Given the description of an element on the screen output the (x, y) to click on. 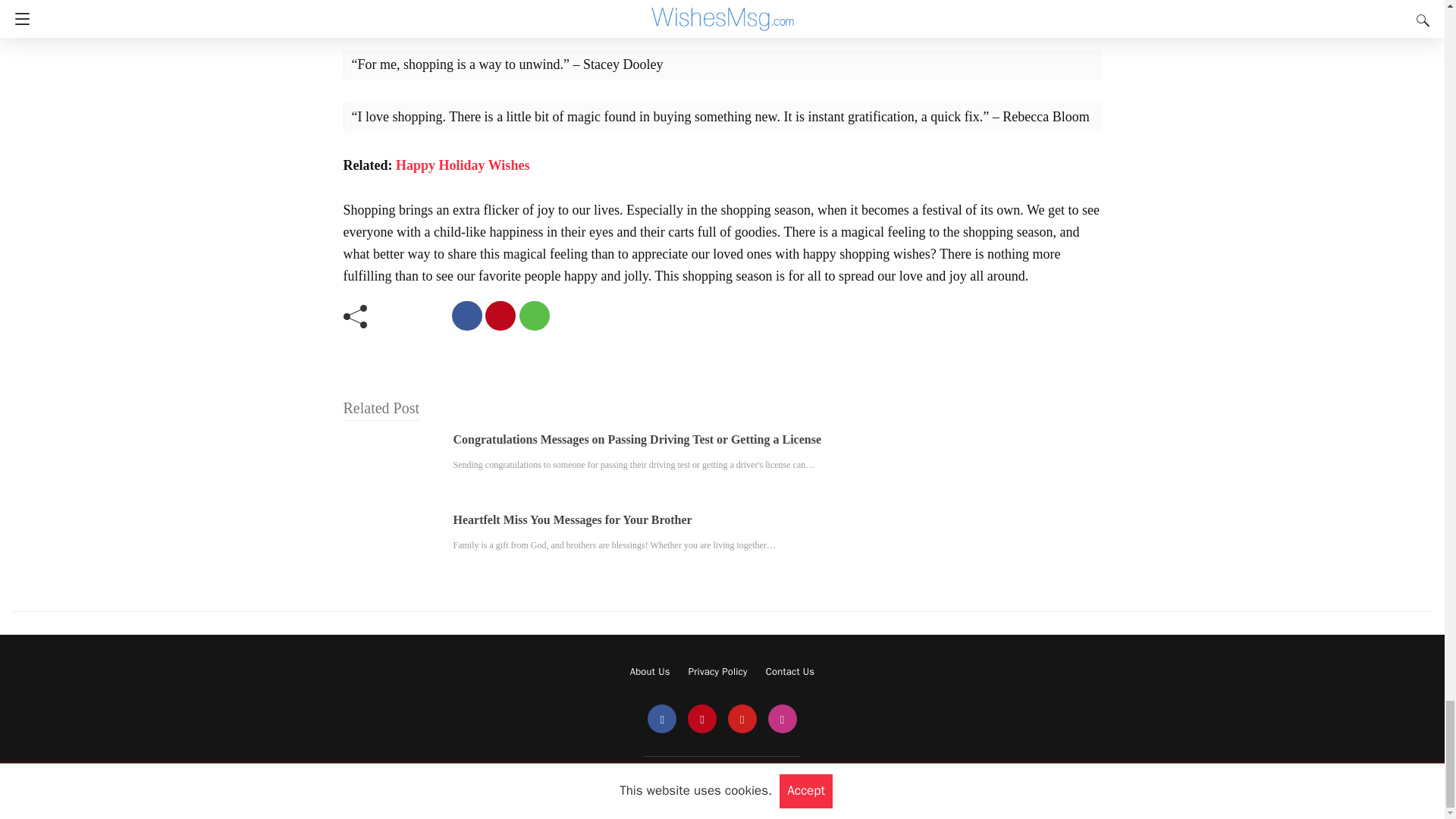
facebook profile (662, 719)
Privacy Policy (718, 671)
Happy Holiday Wishes (462, 165)
Heartfelt Miss You Messages for Your Brother (572, 519)
Heartfelt Miss You Messages for Your Brother (572, 519)
whatsapp share (533, 315)
View Non-AMP Version (769, 783)
About Us (649, 671)
pinterest profile (701, 719)
facebook share (466, 315)
View Non-AMP Version (769, 783)
youtube profile (742, 719)
pinterest share (499, 315)
